Given the description of an element on the screen output the (x, y) to click on. 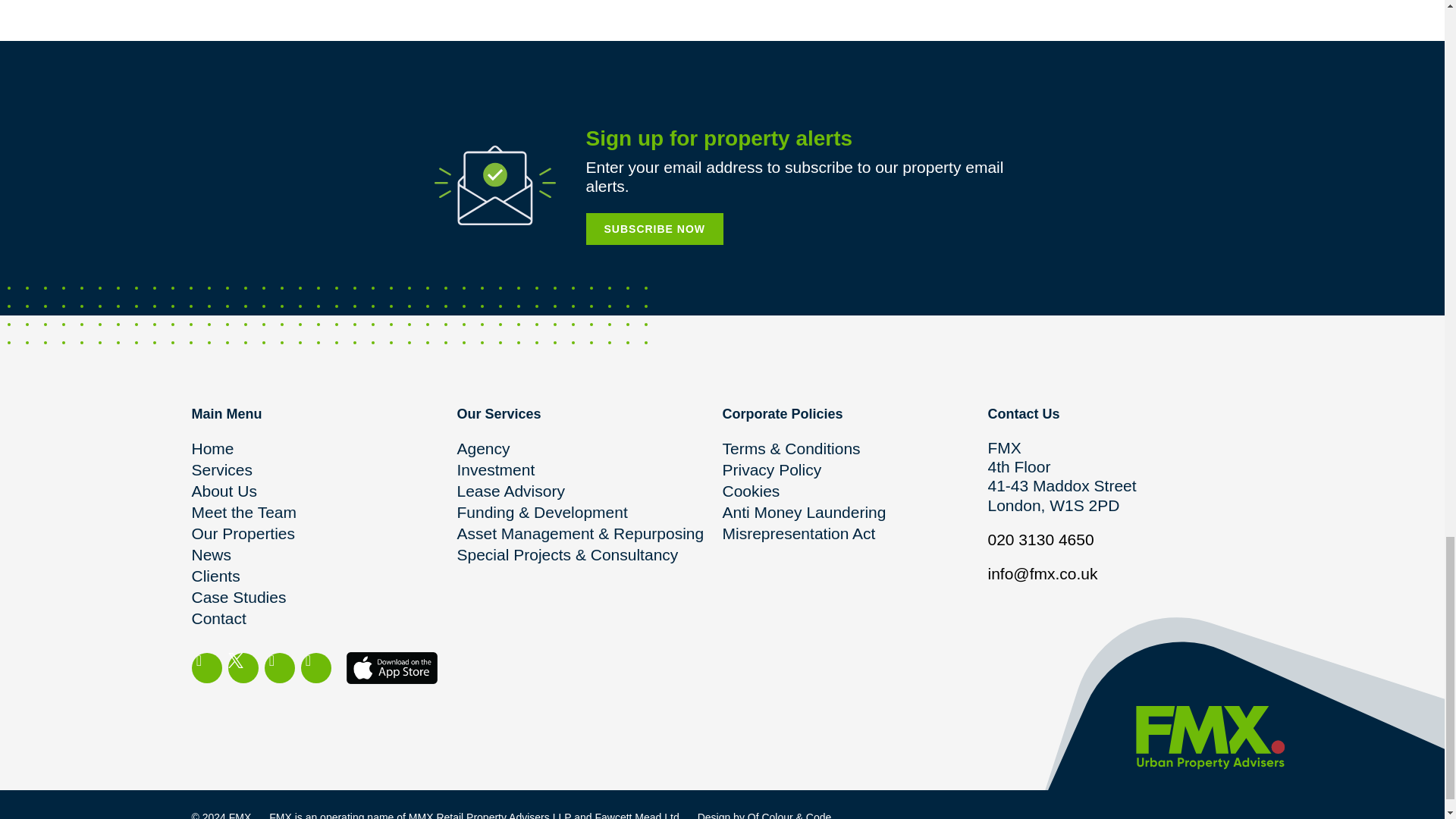
Our Properties (323, 533)
Meet the Team (323, 512)
Contact (323, 618)
Case Studies (323, 597)
Home (323, 448)
Services (323, 469)
SUBSCRIBE NOW (654, 228)
About Us (323, 491)
News (323, 554)
Clients (323, 576)
